Given the description of an element on the screen output the (x, y) to click on. 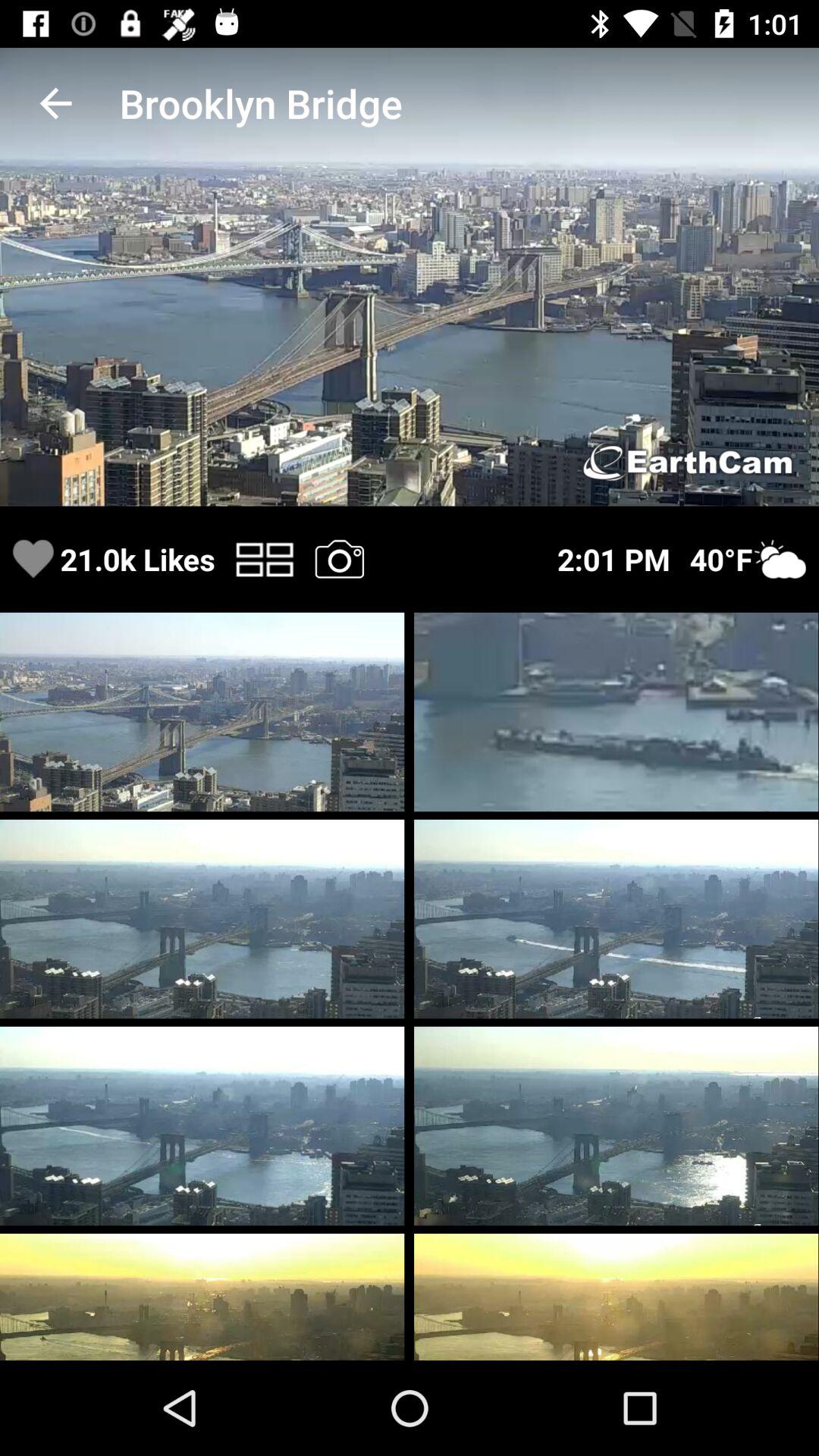
heart symbol (33, 559)
